Given the description of an element on the screen output the (x, y) to click on. 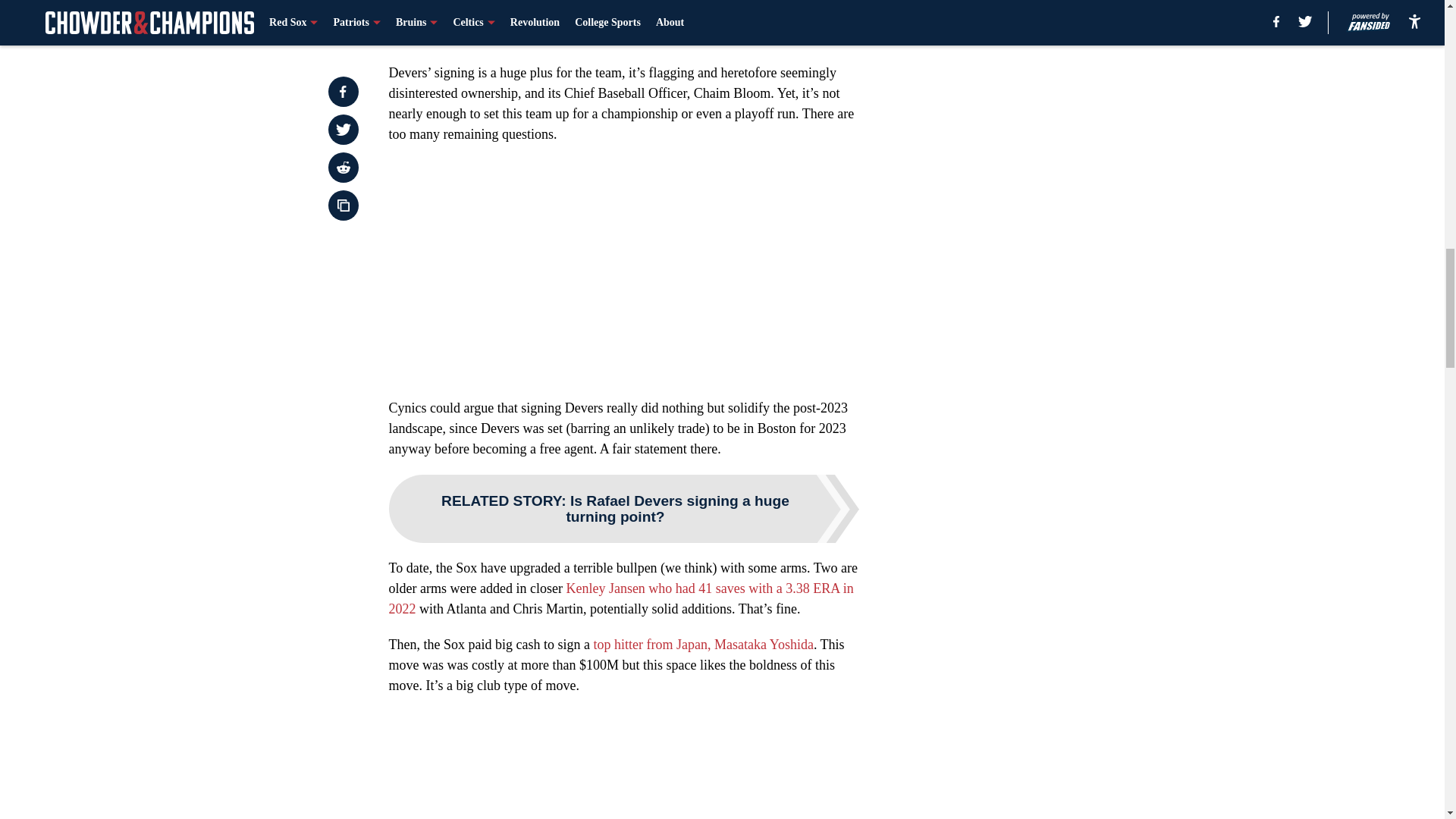
top hitter from Japan, Masataka Yoshida (702, 644)
Kenley Jansen who had 41 saves with a 3.38 ERA in 2022 (620, 598)
